Given the description of an element on the screen output the (x, y) to click on. 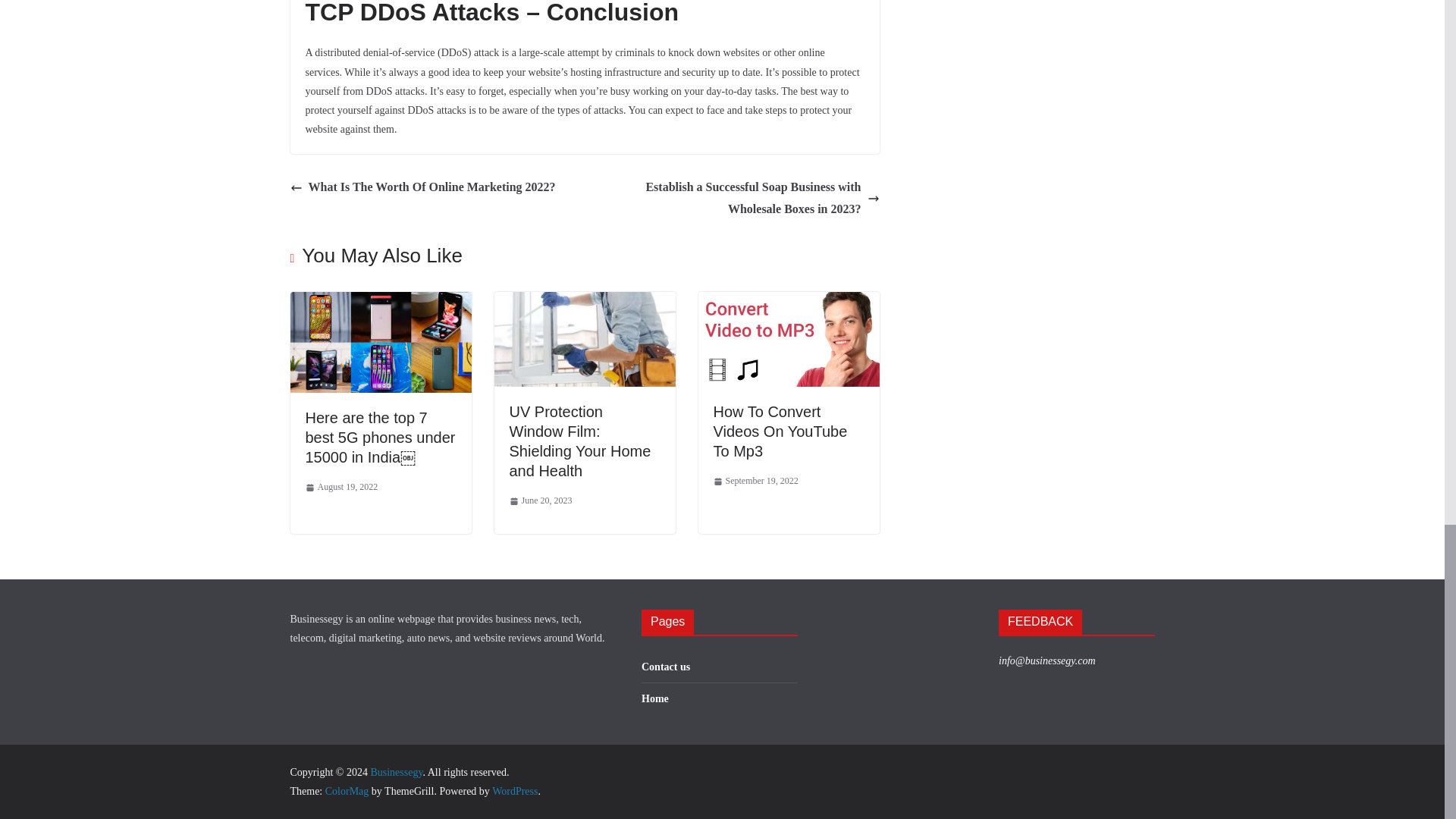
What Is The Worth Of Online Marketing 2022? (421, 187)
UV Protection Window Film: Shielding Your Home and Health (579, 441)
UV Protection Window Film: Shielding Your Home and Health (579, 441)
How To Convert Videos On YouTube To Mp3 (780, 431)
7:14 am (340, 487)
UV Protection Window Film: Shielding Your Home and Health (585, 301)
September 19, 2022 (755, 481)
August 19, 2022 (340, 487)
11:06 am (540, 501)
